Given the description of an element on the screen output the (x, y) to click on. 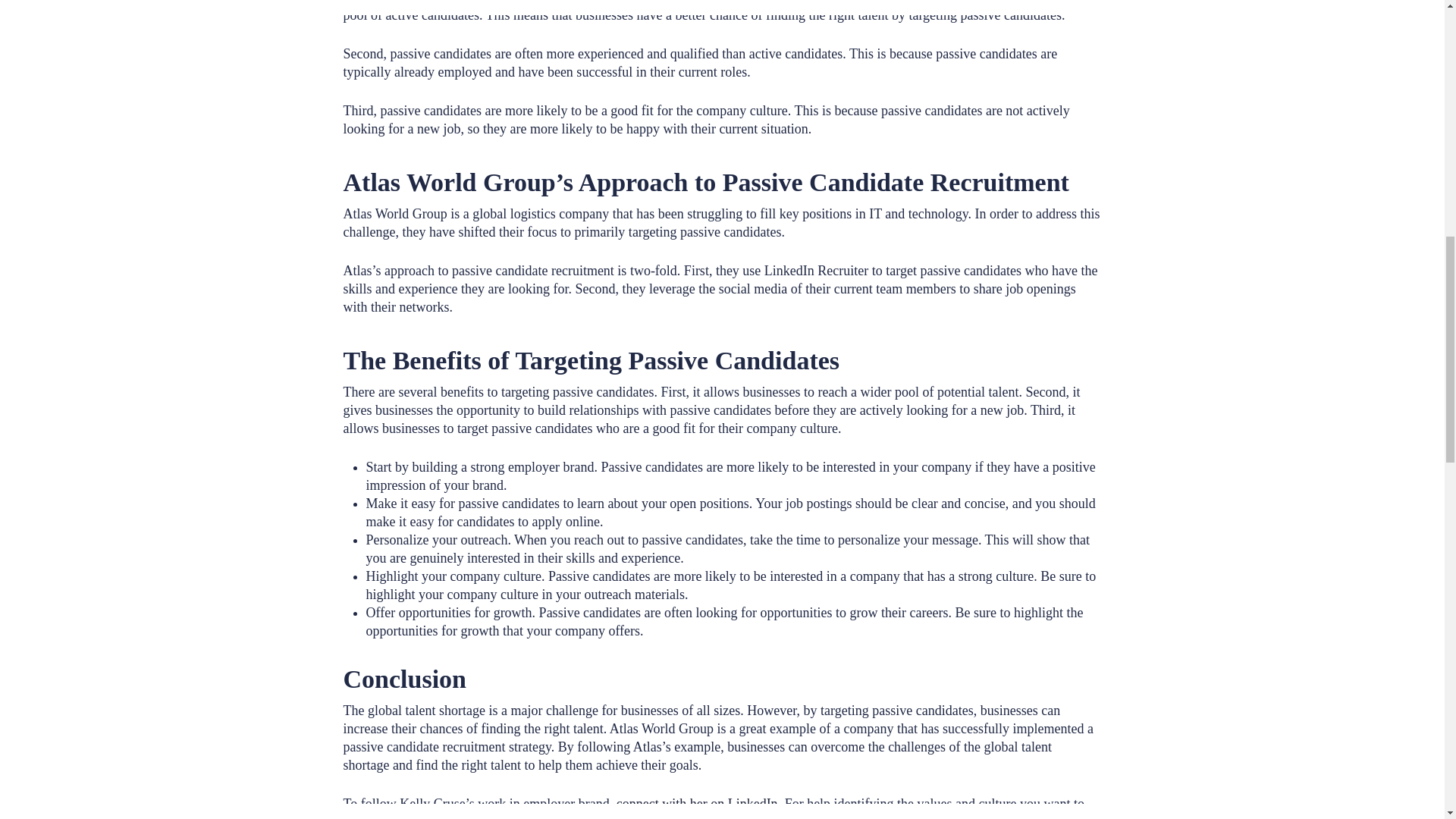
get in touch (509, 816)
targeting passive candidates (668, 2)
connect with her on LinkedIn (696, 803)
